Given the description of an element on the screen output the (x, y) to click on. 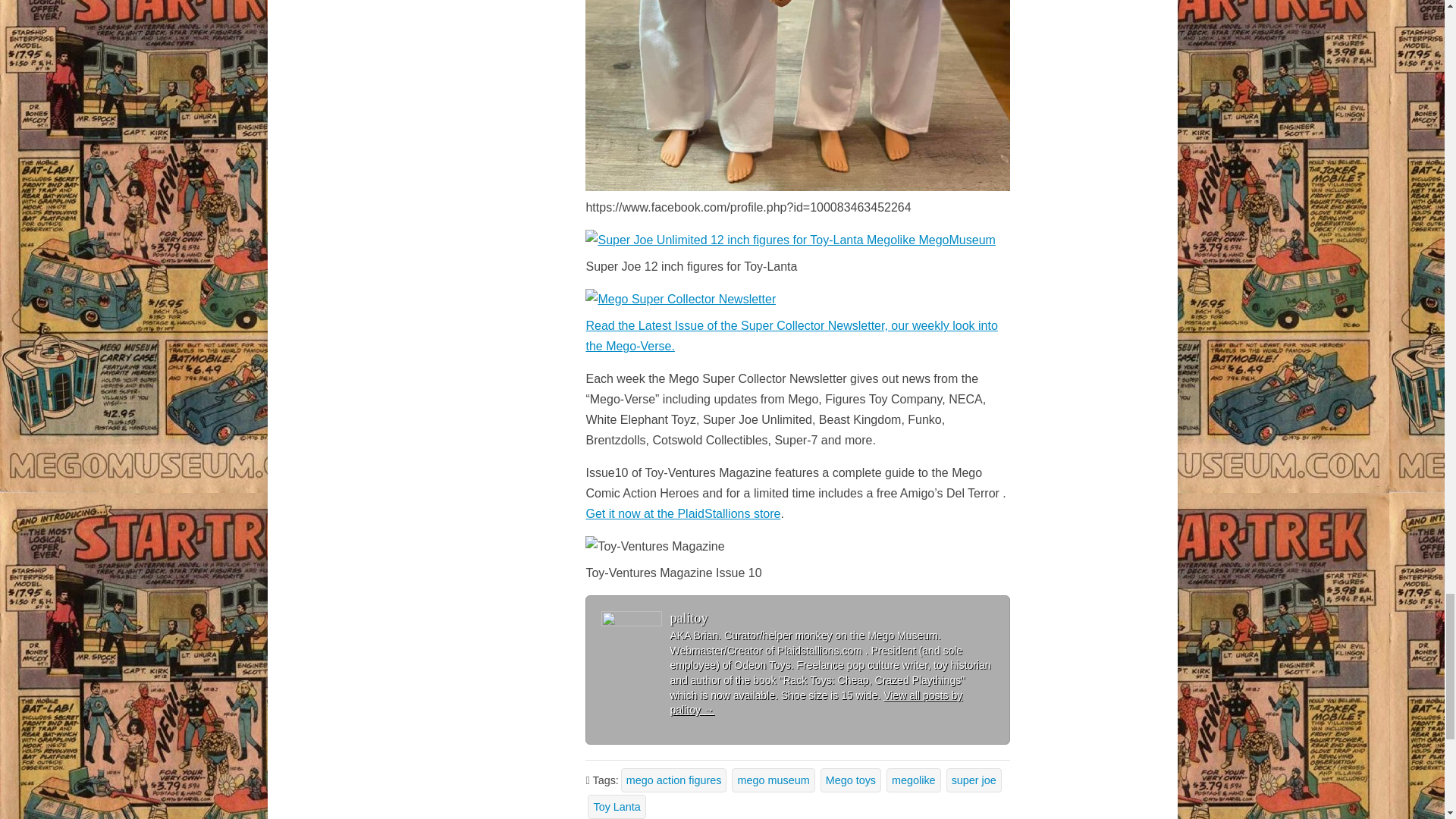
megolike (913, 780)
mego action figures (673, 780)
mego museum (772, 780)
Toy Lanta (616, 806)
Mego toys (850, 780)
super joe (973, 780)
Newsletter (680, 299)
Get it now at the PlaidStallions store (682, 513)
